Given the description of an element on the screen output the (x, y) to click on. 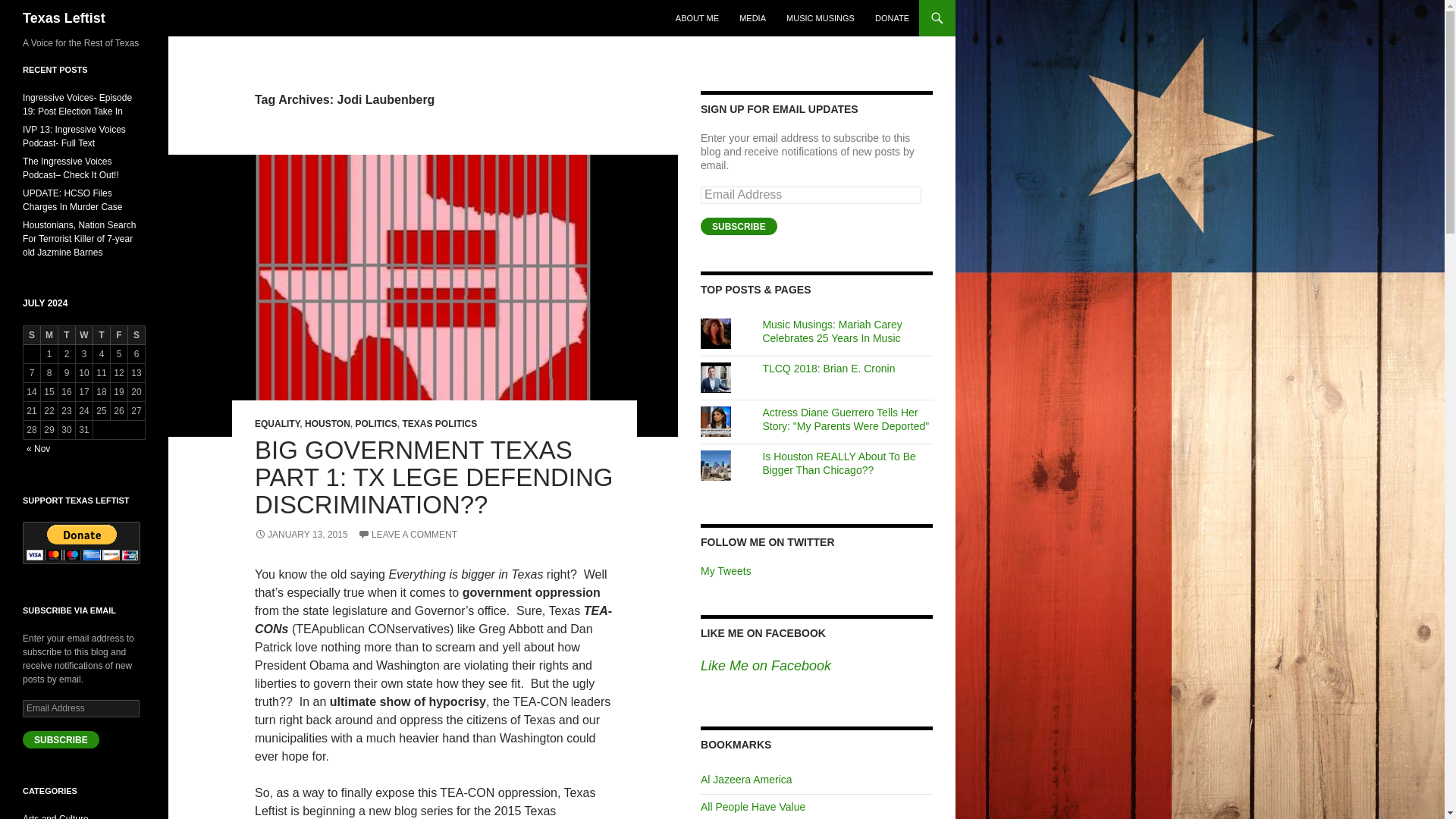
EQUALITY (276, 423)
Is Houston REALLY About To Be Bigger Than Chicago?? (838, 462)
TLCQ 2018:  Brian E. Cronin (828, 368)
LEAVE A COMMENT (407, 534)
MUSIC MUSINGS (820, 18)
ABOUT ME (697, 18)
HOUSTON (327, 423)
MEDIA (752, 18)
Music Musings:  Mariah Carey Celebrates 25 Years In Music (831, 330)
TEXAS POLITICS (439, 423)
DONATE (892, 18)
JANUARY 13, 2015 (300, 534)
Texas Leftist (63, 18)
